Given the description of an element on the screen output the (x, y) to click on. 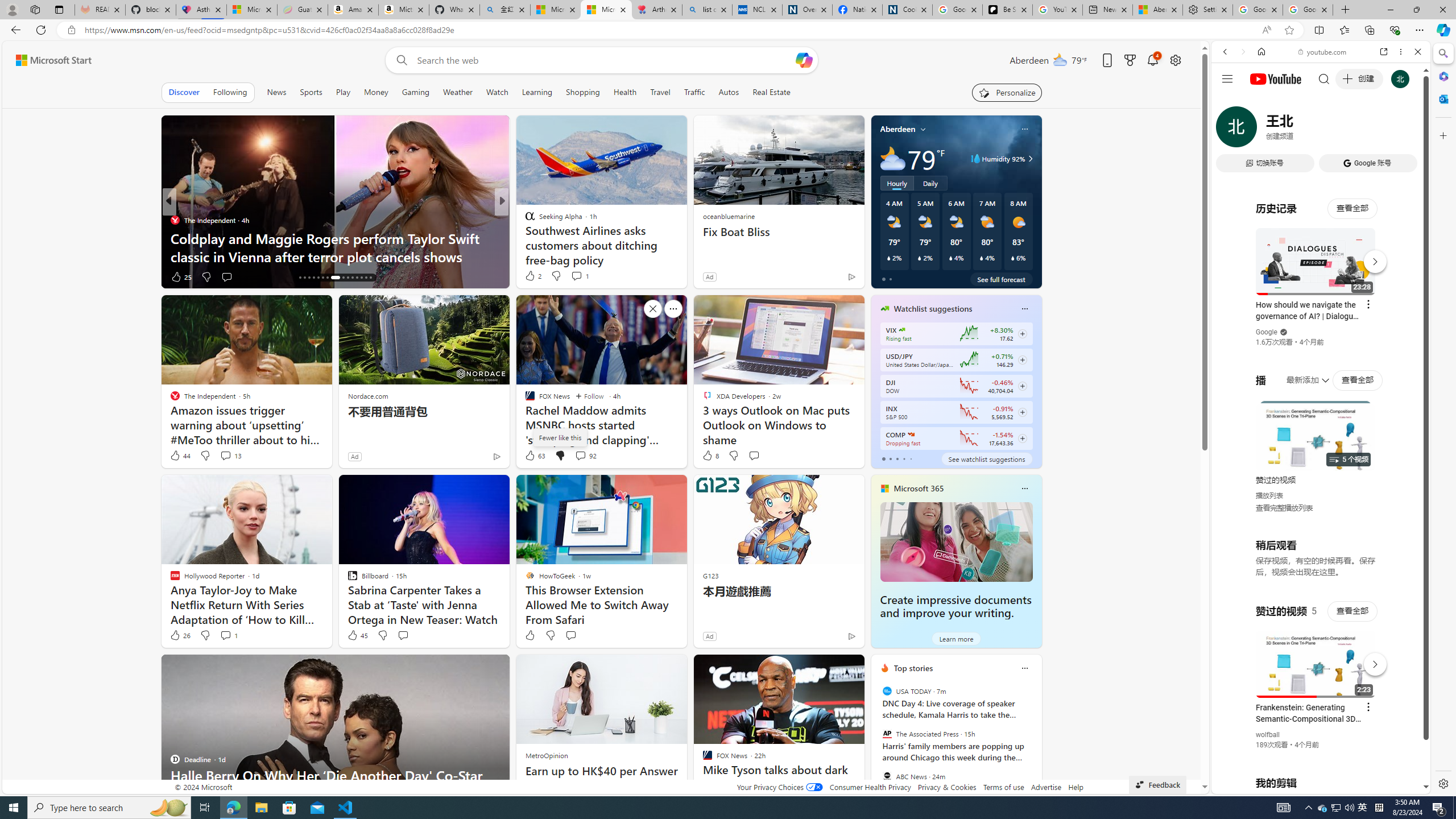
Music (1320, 309)
View comments 9 Comment (580, 276)
Weather (457, 92)
Learning (537, 92)
VIDEOS (1300, 130)
Earn up to HK$40 per Answer (601, 771)
News (277, 92)
22 Like (530, 276)
Sports (310, 92)
Open Copilot (803, 59)
Be Smart | creating Science videos | Patreon (1006, 9)
